Given the description of an element on the screen output the (x, y) to click on. 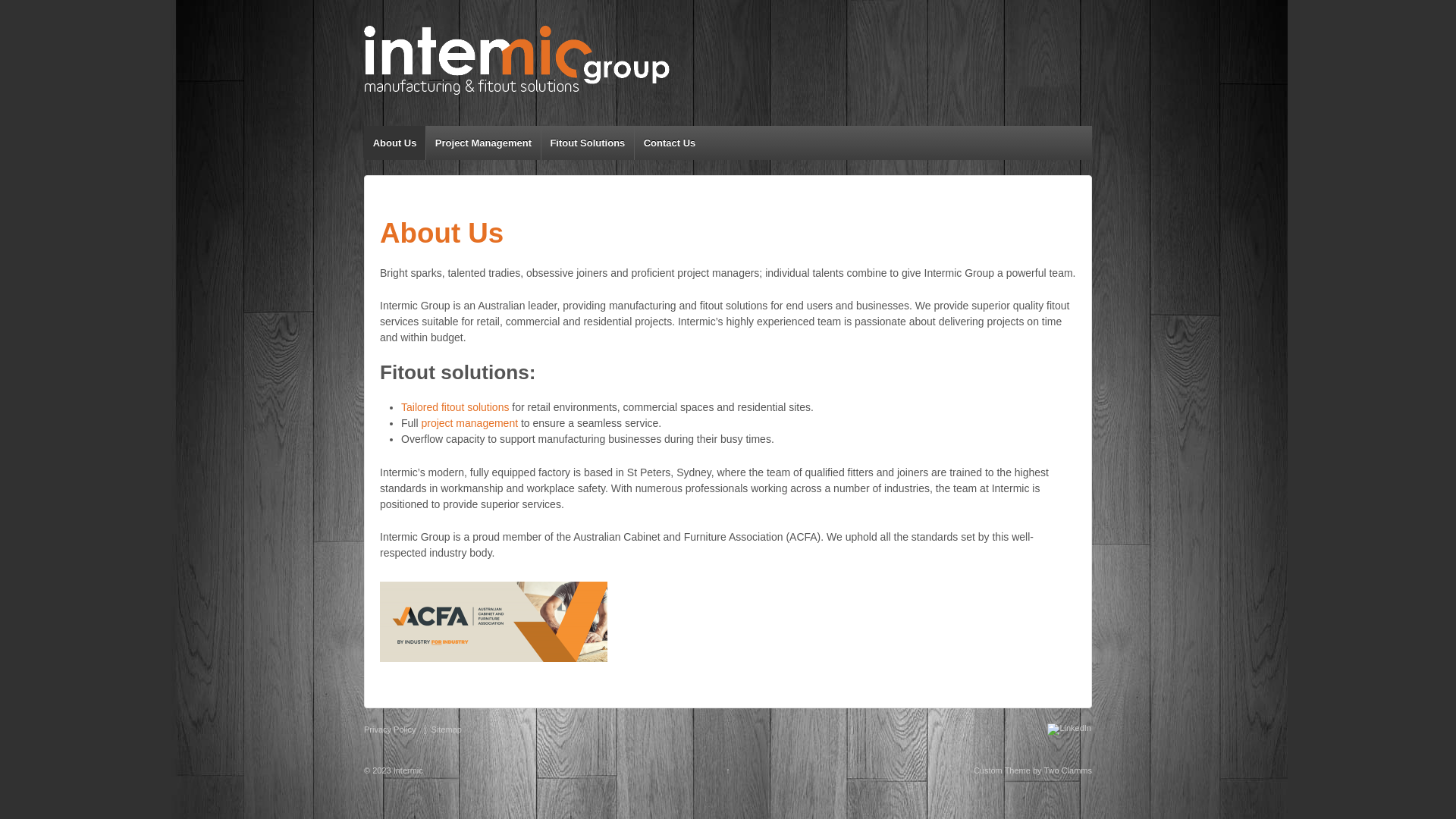
Privacy Policy Element type: text (392, 729)
Custom Theme Element type: text (1001, 770)
project management Element type: text (468, 423)
Fitout Solutions Element type: text (586, 142)
Two Clamms Element type: text (1067, 770)
Sitemap Element type: text (445, 729)
Contact Us Element type: text (668, 142)
Intermic Element type: text (407, 770)
Project Management Element type: text (482, 142)
Tailored fitout solutions Element type: text (454, 407)
About Us Element type: text (394, 142)
